Given the description of an element on the screen output the (x, y) to click on. 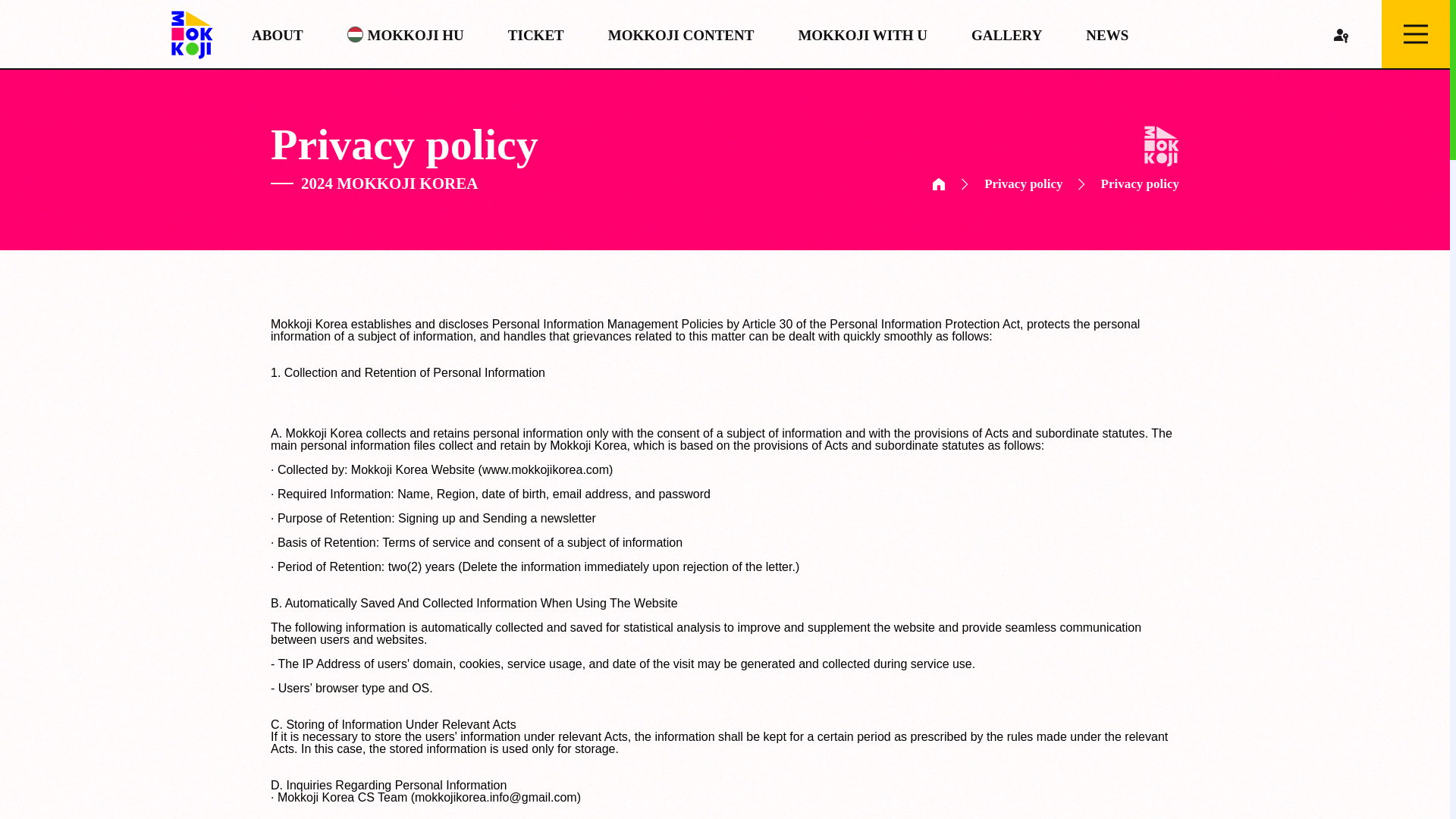
NEWS (1107, 34)
MOKKOJI WITH U (862, 34)
LOGIN (1339, 33)
ABOUT (276, 34)
MOKKOJI HU (405, 34)
MOKKOJI CONTENT (681, 34)
GALLERY (1006, 34)
TICKET (536, 34)
